Given the description of an element on the screen output the (x, y) to click on. 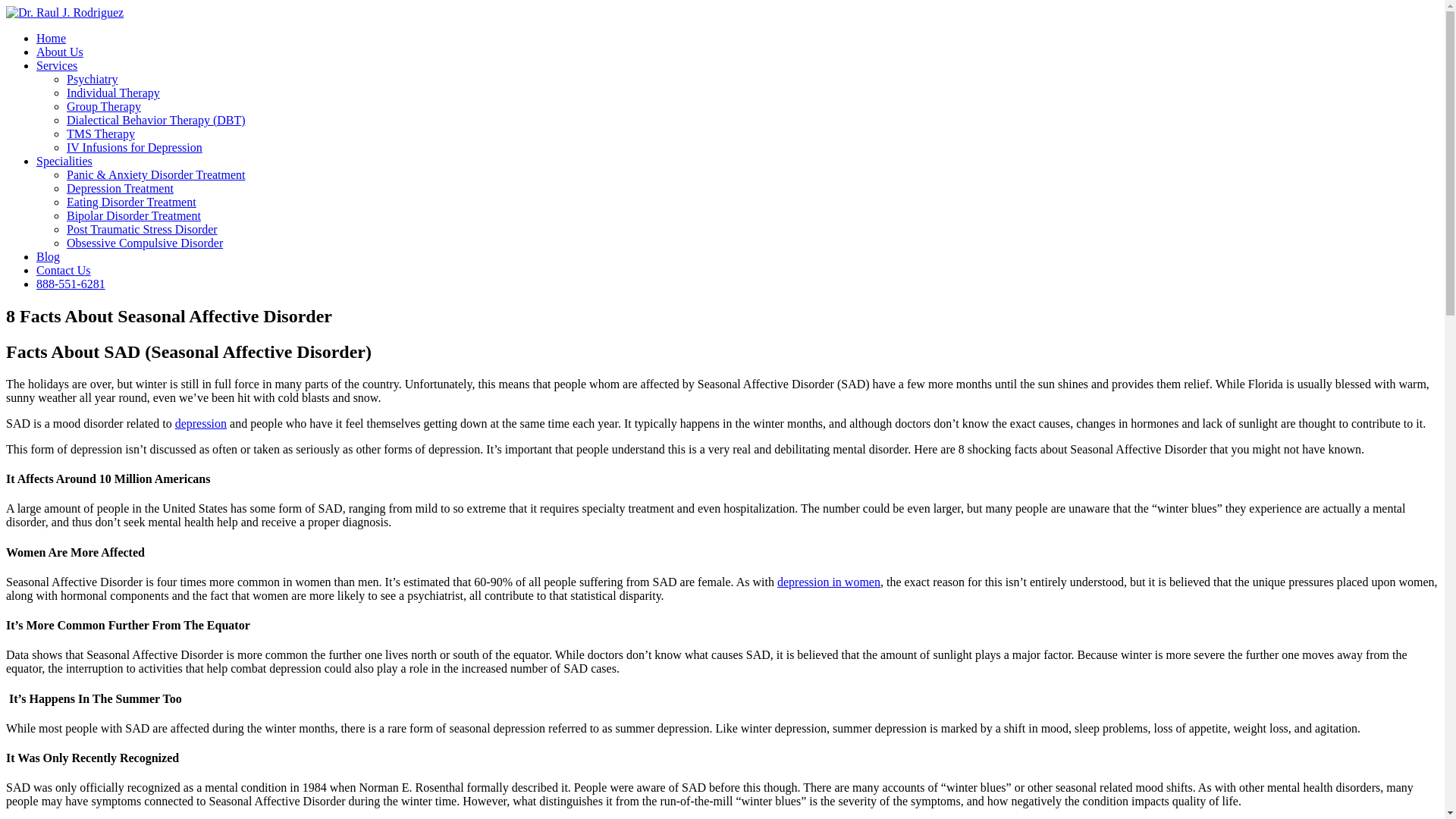
888-551-6281 (70, 283)
Depression Treatment (119, 187)
Specialities (64, 160)
TMS Therapy (100, 133)
Dr. Raul J. Rodriguez (64, 11)
Eating Disorder Treatment (131, 201)
Group Therapy (103, 106)
Psychiatry (91, 78)
Post Traumatic Stress Disorder (141, 228)
IV Infusions for Depression (134, 146)
